Given the description of an element on the screen output the (x, y) to click on. 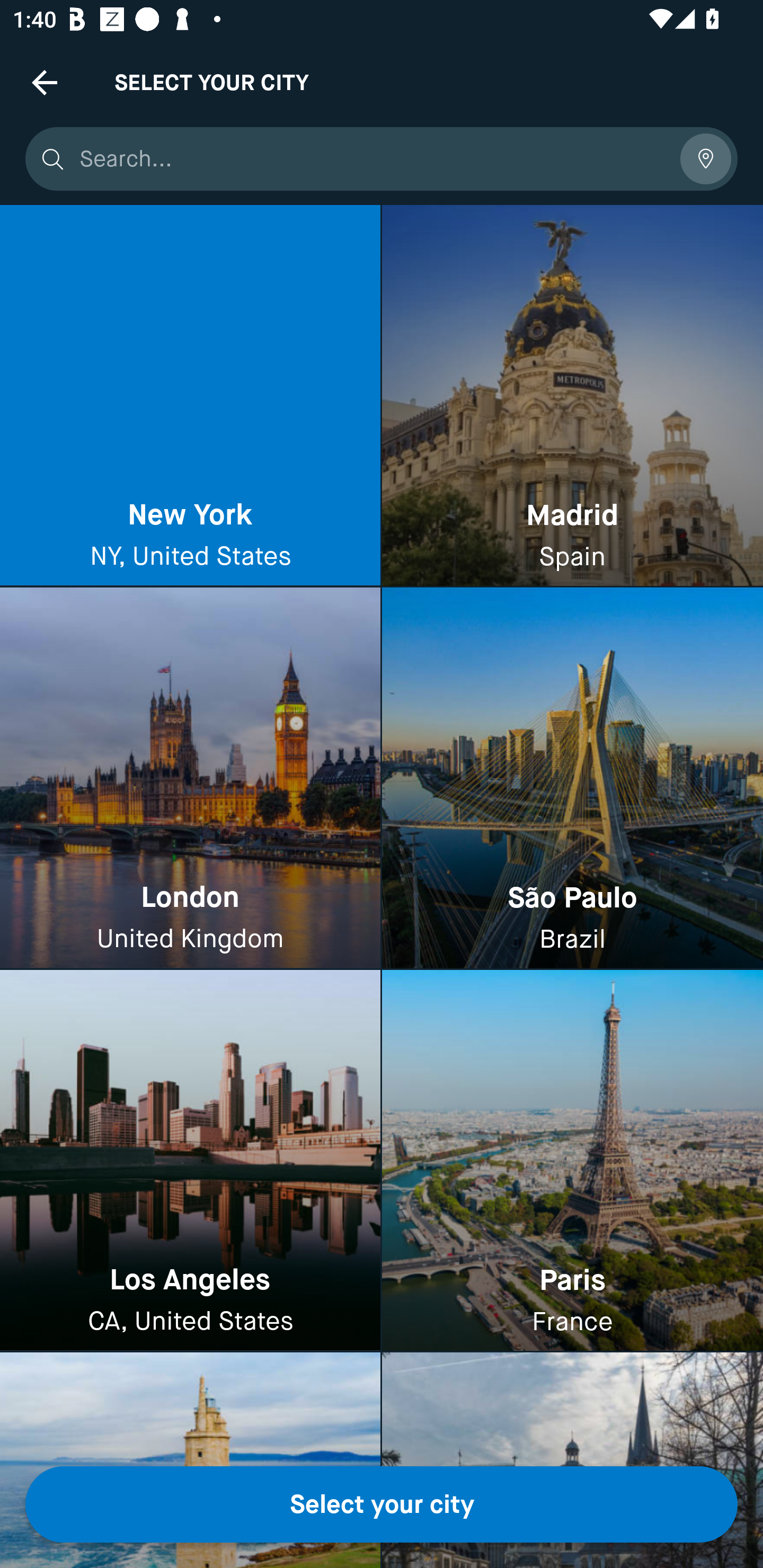
Navigate up (44, 82)
Search... (373, 159)
New York NY, United States (190, 395)
Madrid Spain (572, 395)
London United Kingdom (190, 778)
São Paulo Brazil (572, 778)
Los Angeles CA, United States (190, 1160)
Paris France (572, 1160)
Select your city (381, 1504)
